Given the description of an element on the screen output the (x, y) to click on. 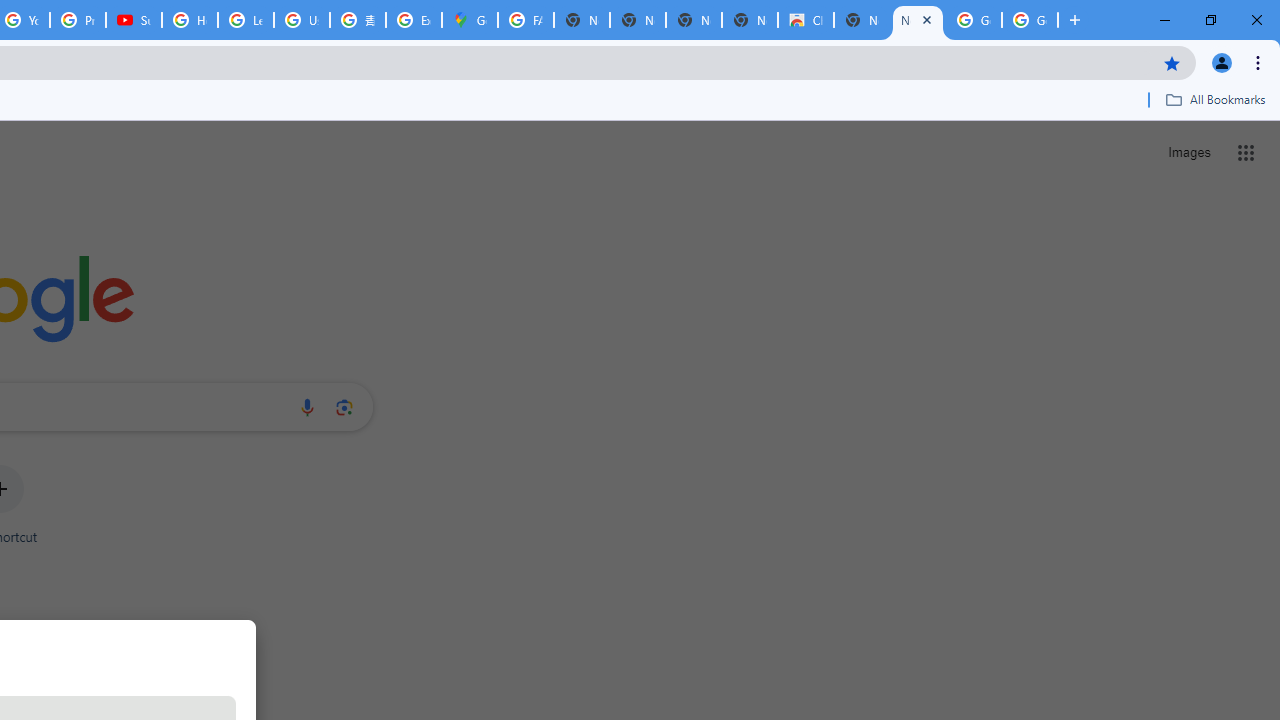
New Tab (917, 20)
Explore new street-level details - Google Maps Help (413, 20)
How Chrome protects your passwords - Google Chrome Help (189, 20)
Chrome Web Store (806, 20)
Subscriptions - YouTube (134, 20)
